Given the description of an element on the screen output the (x, y) to click on. 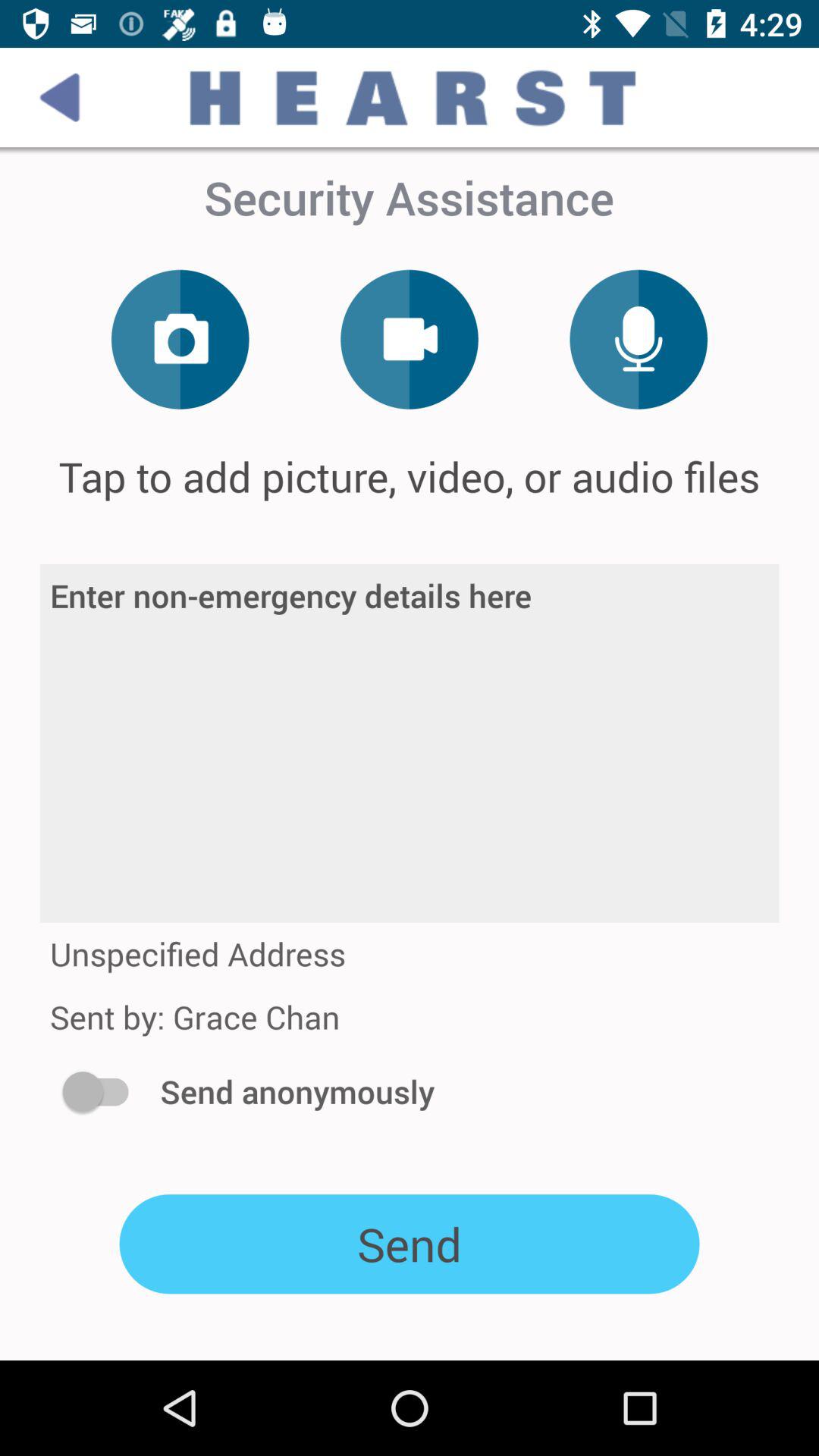
choose icon below sent by grace icon (102, 1091)
